Given the description of an element on the screen output the (x, y) to click on. 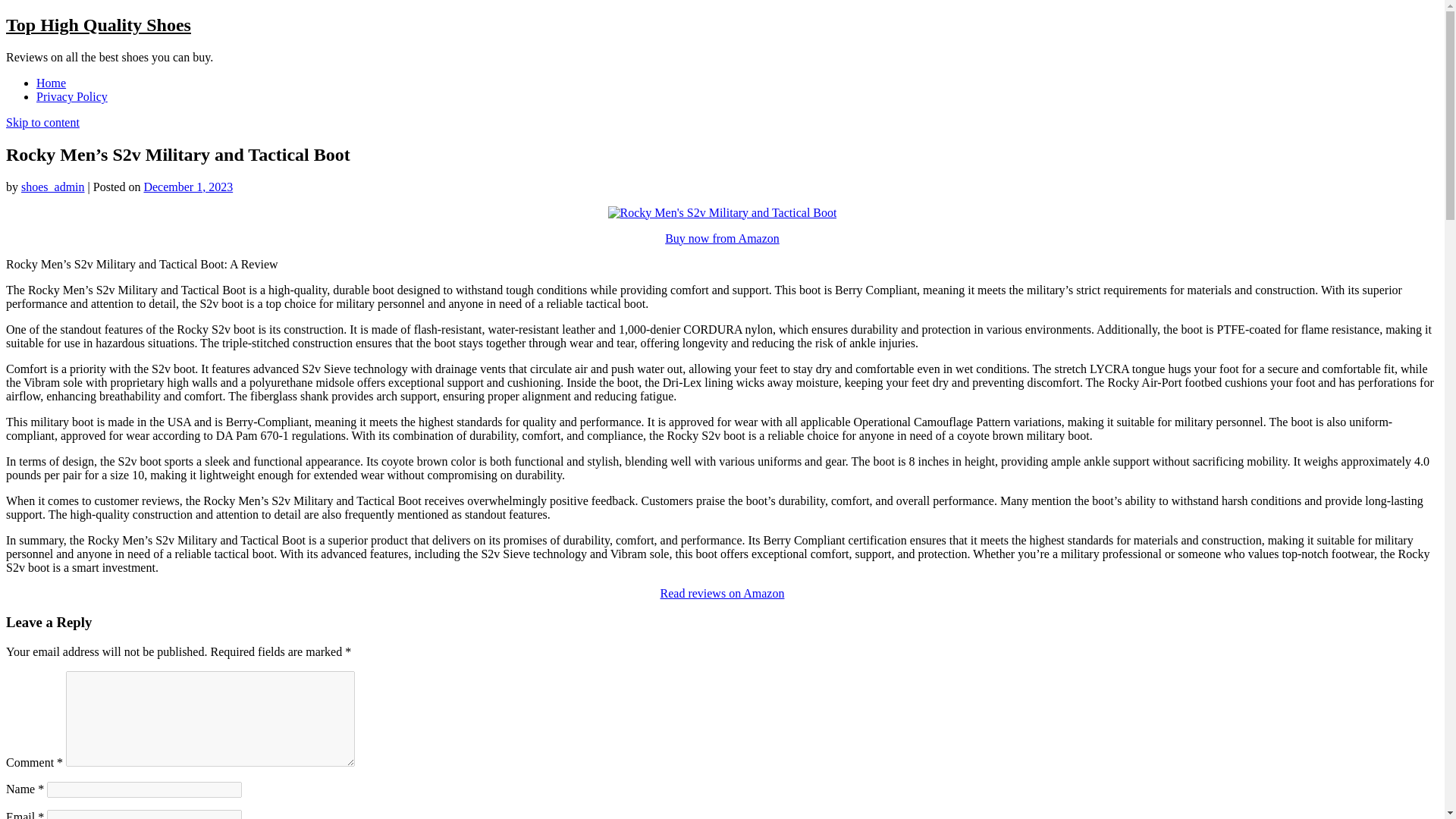
December 1, 2023 (187, 186)
Buy now from Amazon (721, 237)
Privacy Policy (71, 96)
Rocky Men's S2v Military and Tactical Boot (722, 213)
Home (50, 82)
Read reviews on Amazon (722, 593)
Skip to content (42, 122)
Top High Quality Shoes (97, 25)
